Given the description of an element on the screen output the (x, y) to click on. 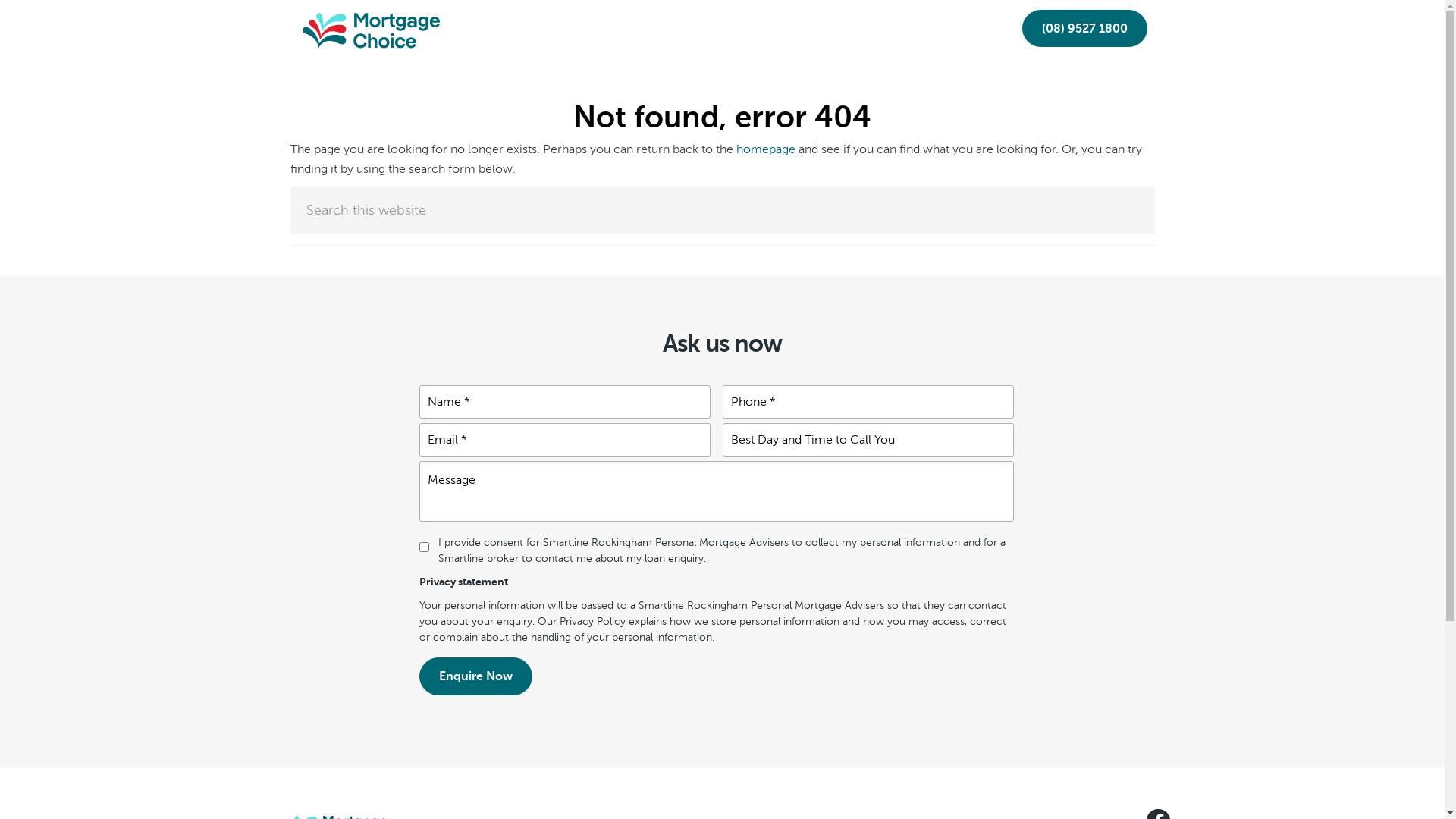
Enquire Now Element type: text (474, 676)
(08) 9527 1800 Element type: text (1084, 28)
homepage Element type: text (764, 149)
MORTGAGE CHOICE ROCKINGHAM Element type: text (362, 21)
Search Element type: text (1154, 185)
